Given the description of an element on the screen output the (x, y) to click on. 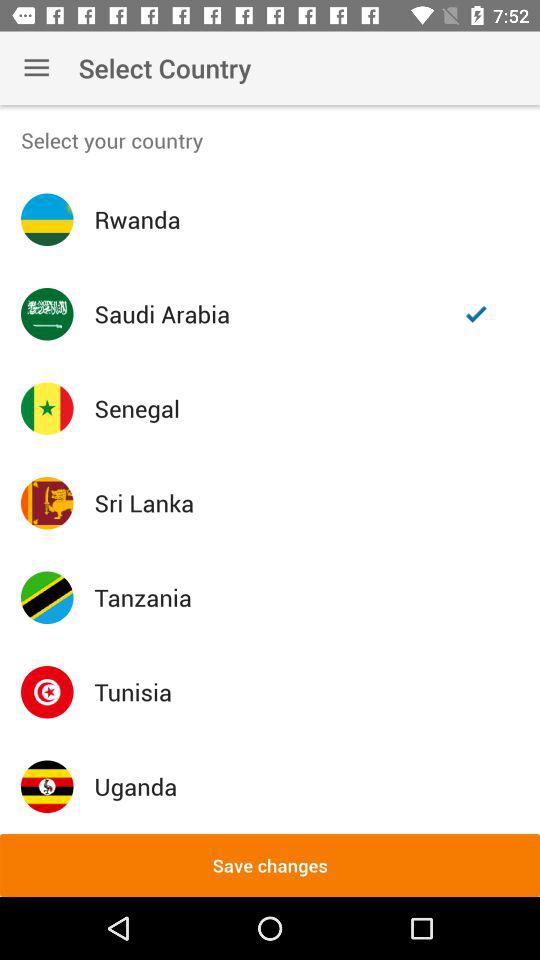
launch the app to the left of select country app (36, 68)
